Given the description of an element on the screen output the (x, y) to click on. 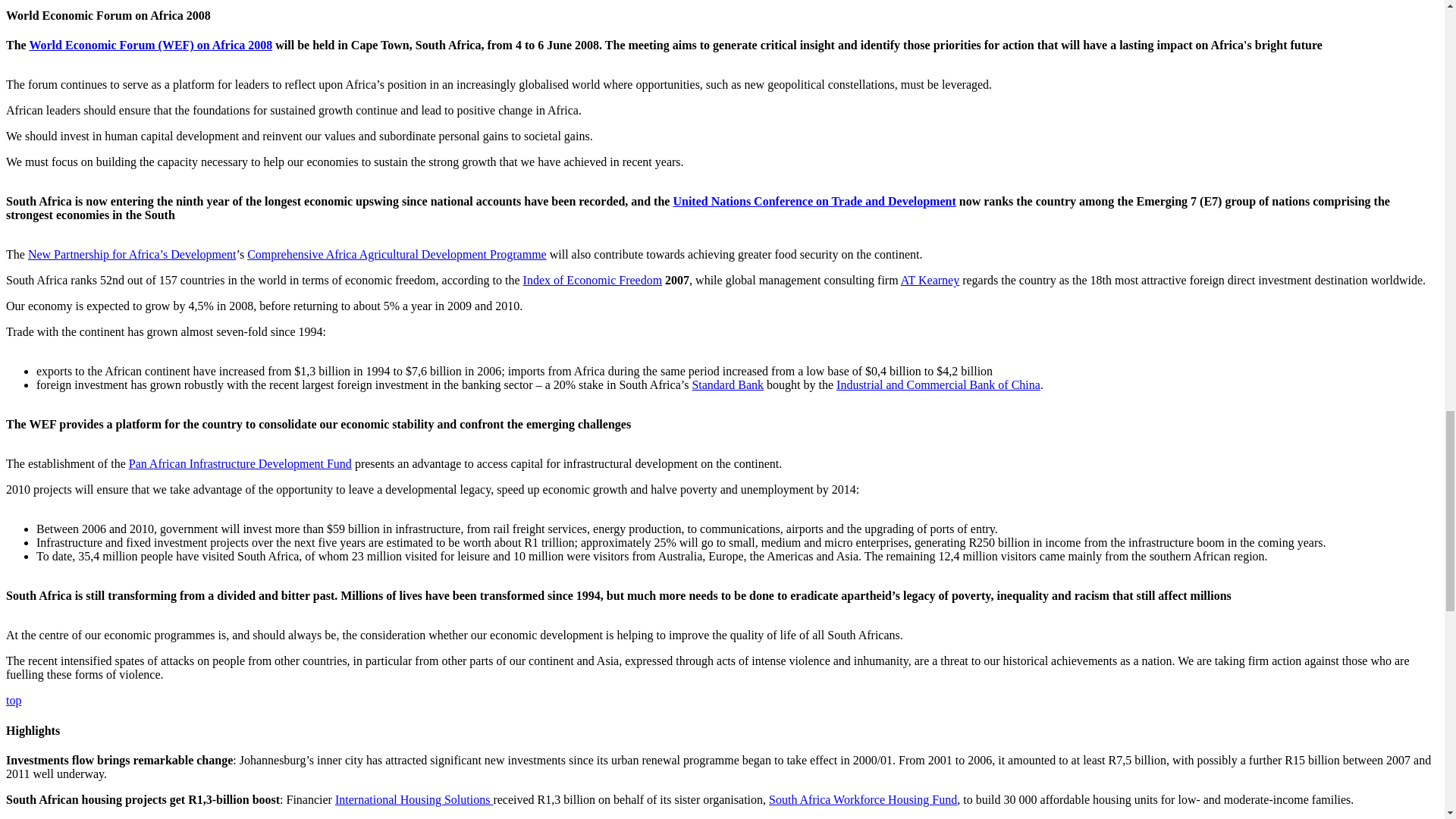
Ouside link - Opens in new window (930, 279)
Ouside link - Opens in new window (240, 463)
Index of Economic Freedom (592, 279)
Ouside link - Opens in new window (397, 254)
Standard Bank (726, 384)
Ouside link - Opens in new window (938, 384)
United Nations Conference on Trade and Development (813, 201)
Ouside link - Opens in new window (592, 279)
Ouside link - Opens in new window (813, 201)
Ouside link - Opens in new window (150, 44)
Comprehensive Africa Agricultural Development Programme (397, 254)
Ouside link - Opens in new window (726, 384)
AT Kearney (930, 279)
Ouside link - Opens in new window (131, 254)
